Given the description of an element on the screen output the (x, y) to click on. 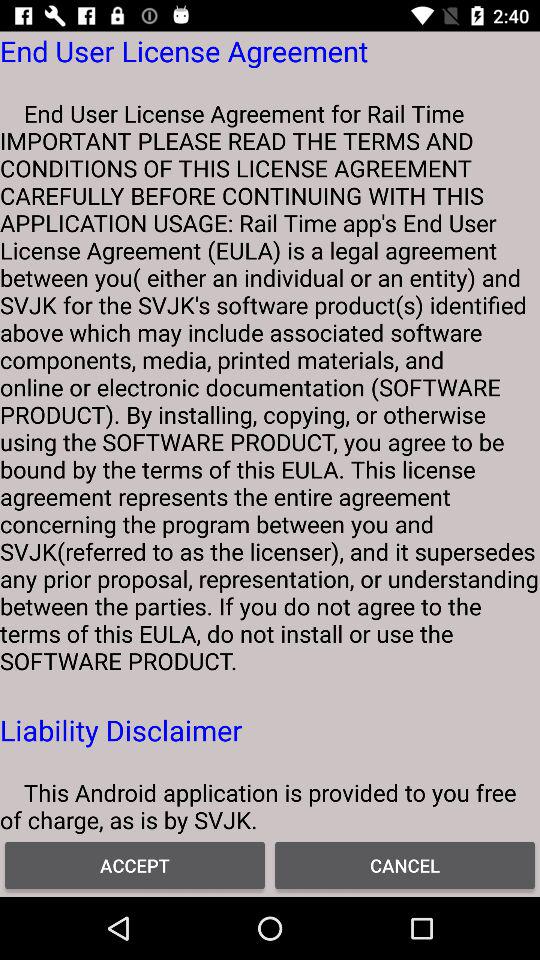
choose button at the bottom right corner (405, 864)
